Given the description of an element on the screen output the (x, y) to click on. 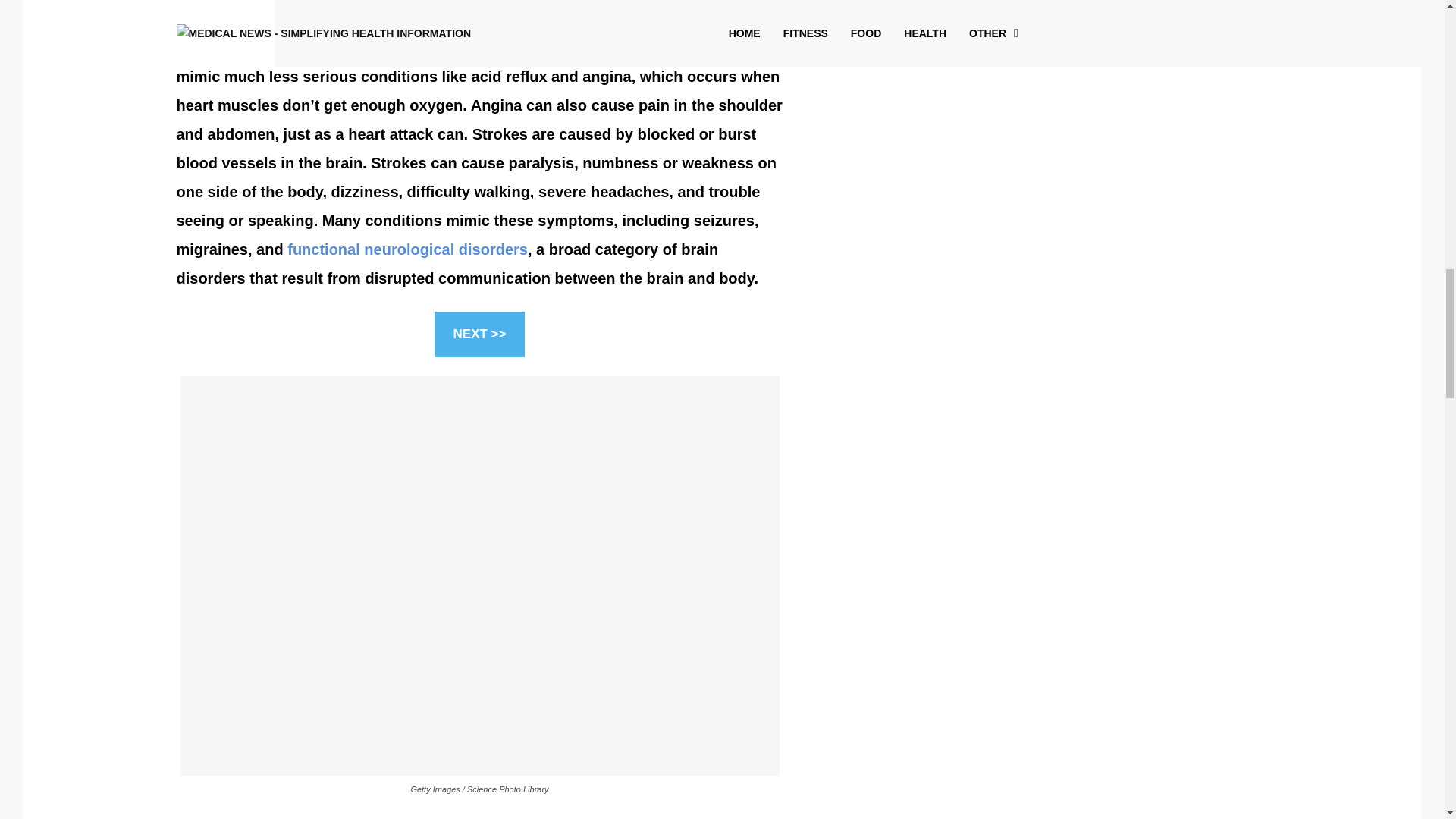
chest pain and discomfort (437, 47)
functional neurological disorders (406, 248)
